Given the description of an element on the screen output the (x, y) to click on. 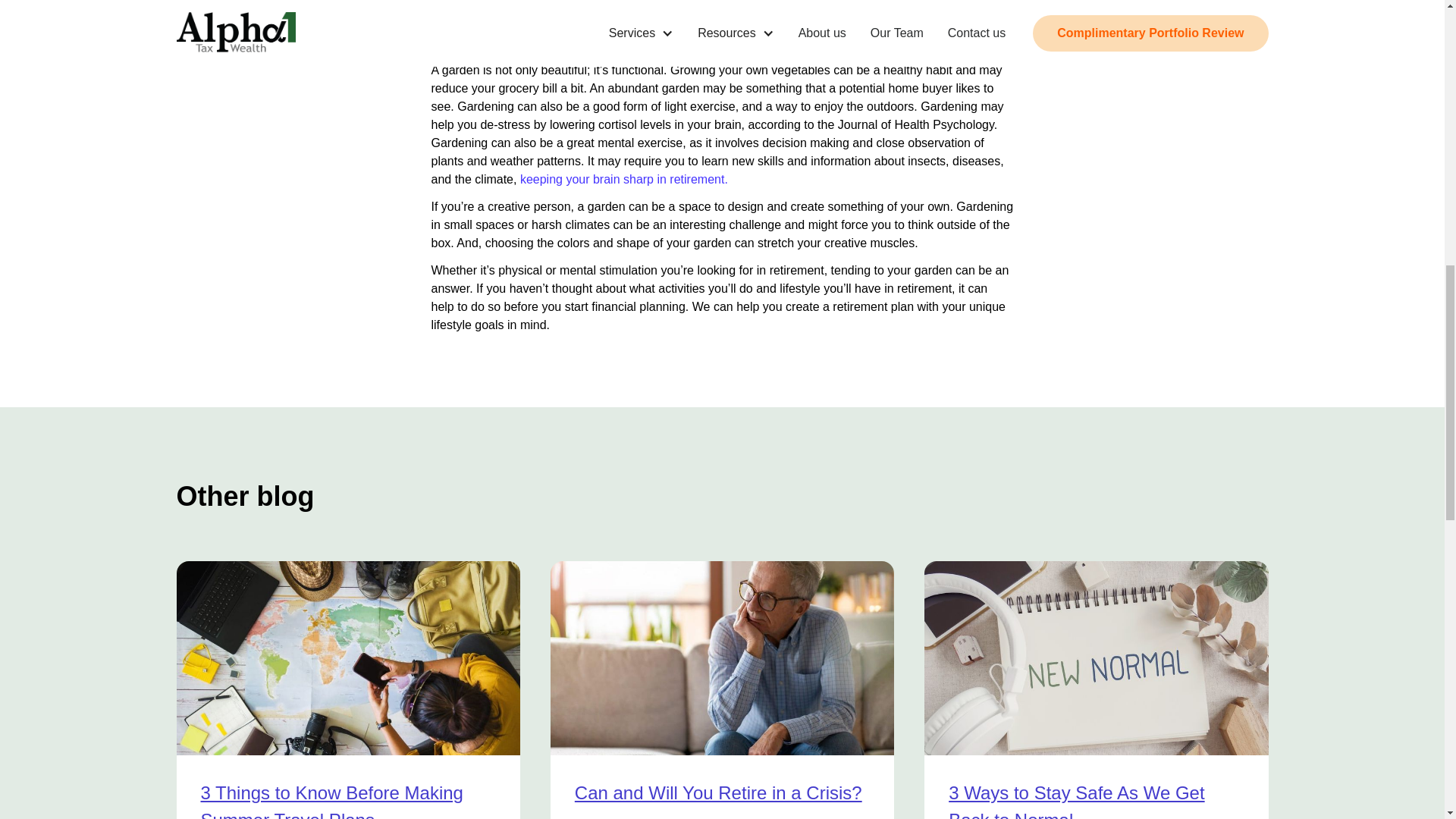
keeping your brain sharp in retirement. (623, 178)
